Given the description of an element on the screen output the (x, y) to click on. 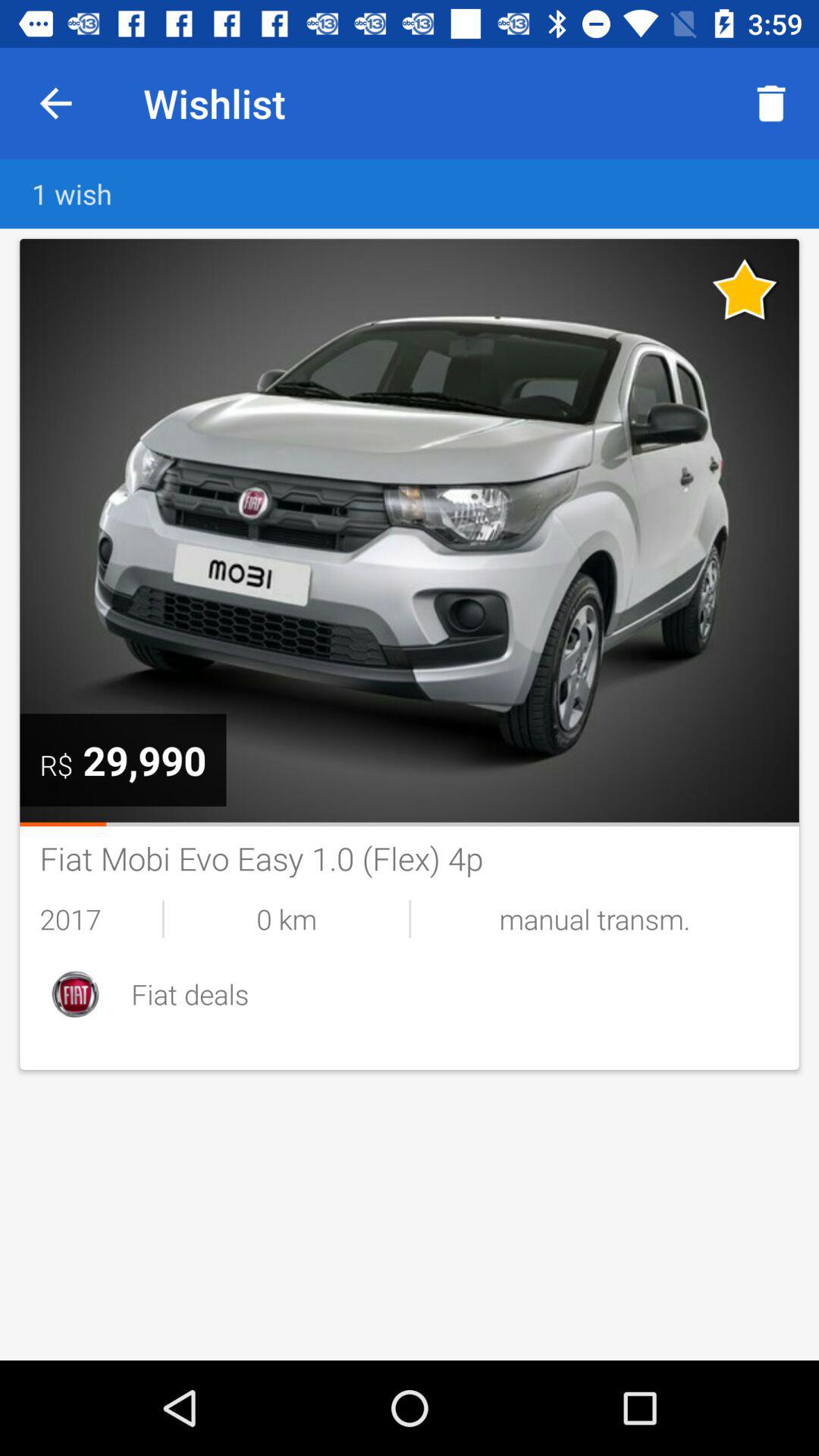
press the icon next to wishlist icon (55, 103)
